Given the description of an element on the screen output the (x, y) to click on. 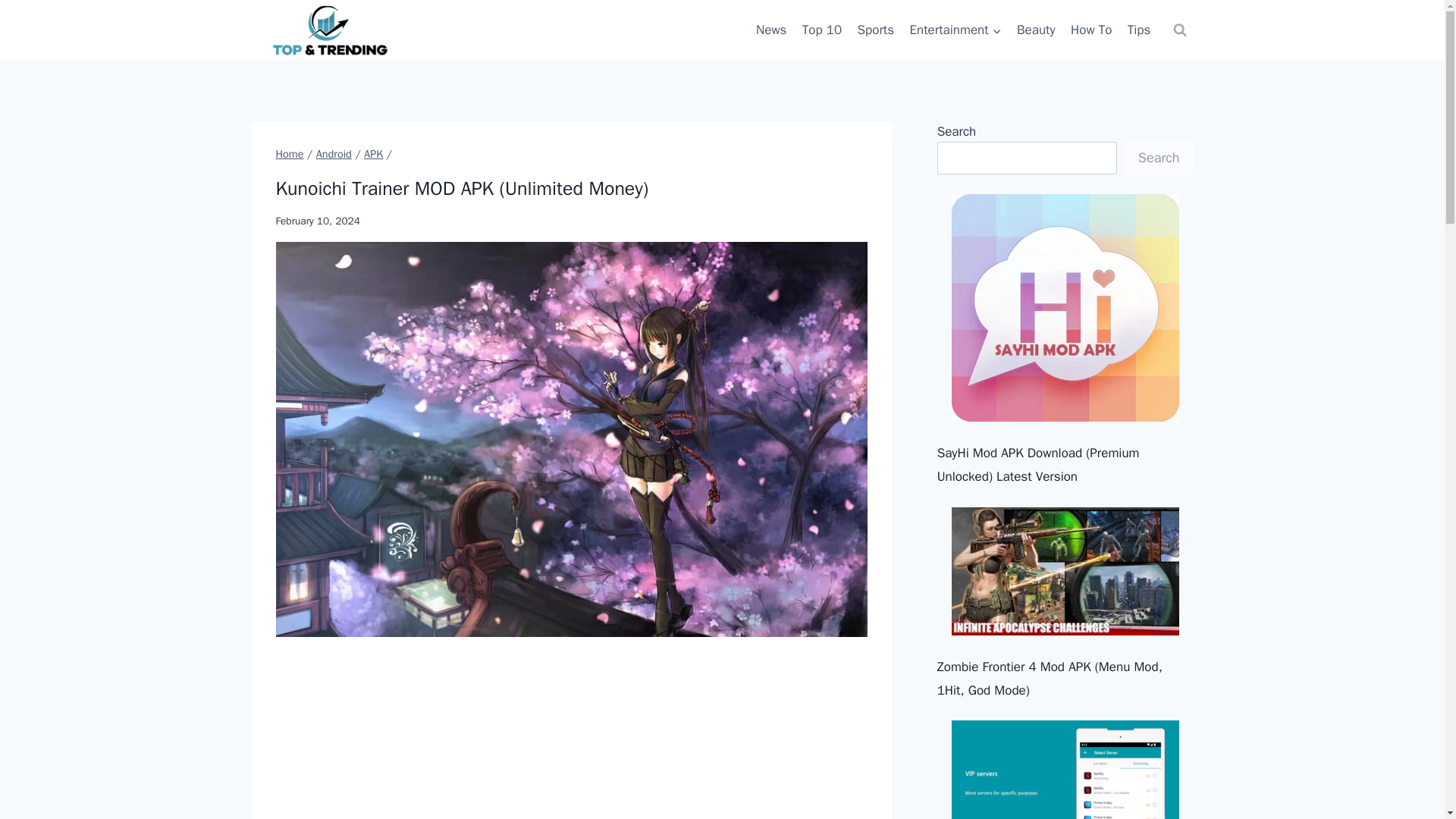
Entertainment (955, 30)
Tips (1138, 30)
How To (1090, 30)
Search (1158, 157)
Home (290, 153)
Beauty (1035, 30)
Android (333, 153)
News (771, 30)
Top 10 (822, 30)
Sports (874, 30)
APK (373, 153)
